Given the description of an element on the screen output the (x, y) to click on. 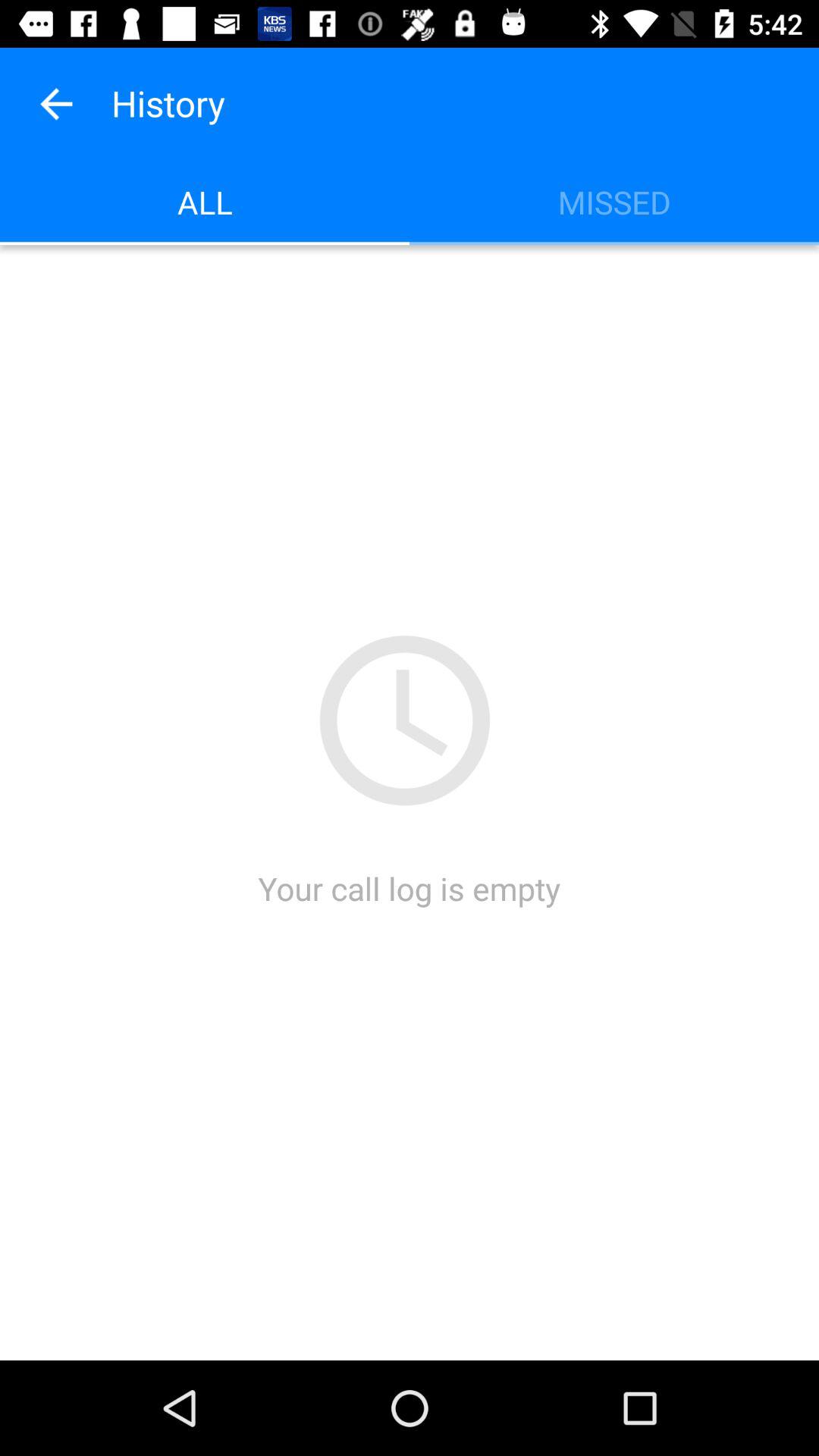
open the all item (204, 202)
